Given the description of an element on the screen output the (x, y) to click on. 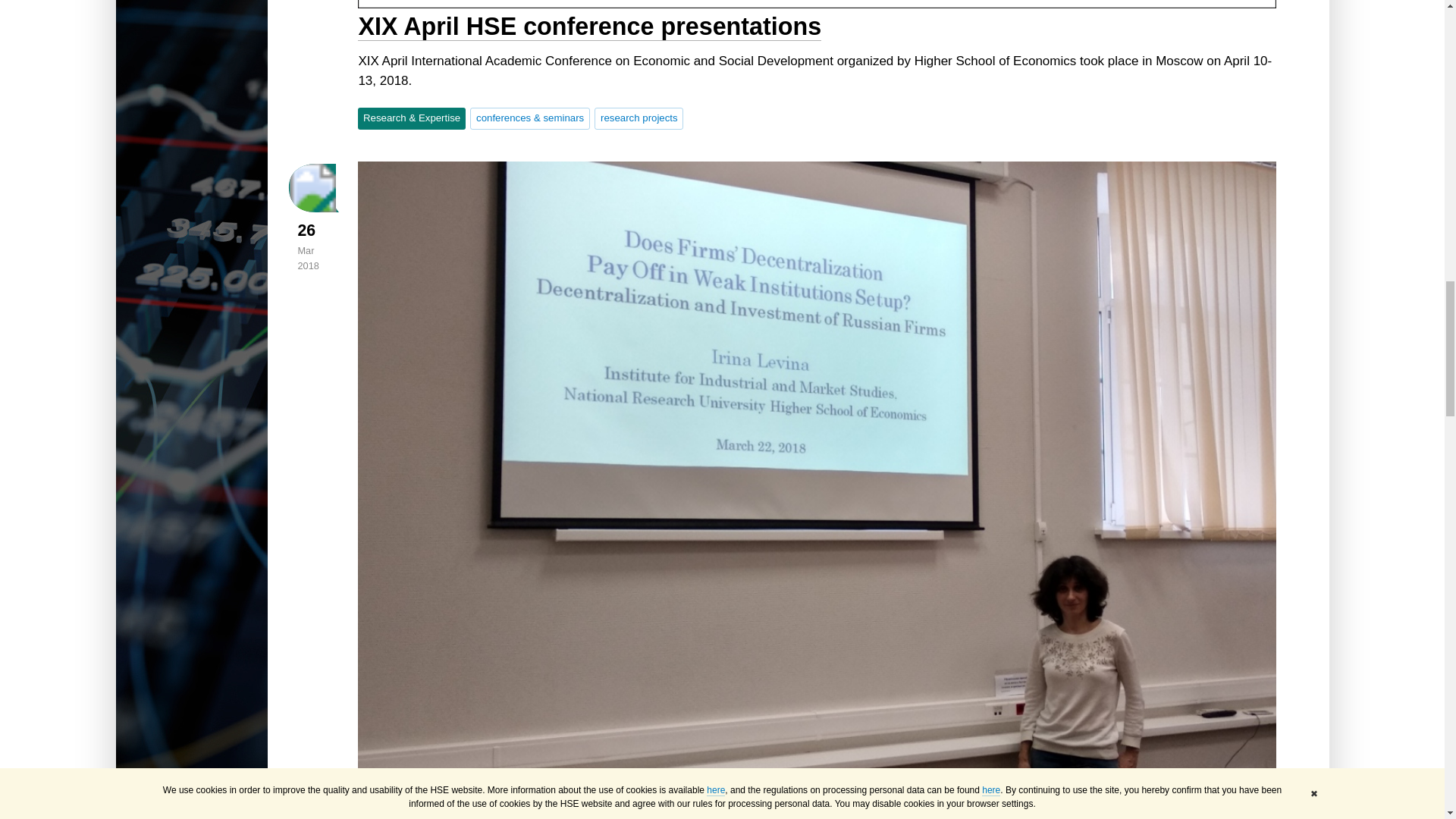
research projects (638, 117)
